Given the description of an element on the screen output the (x, y) to click on. 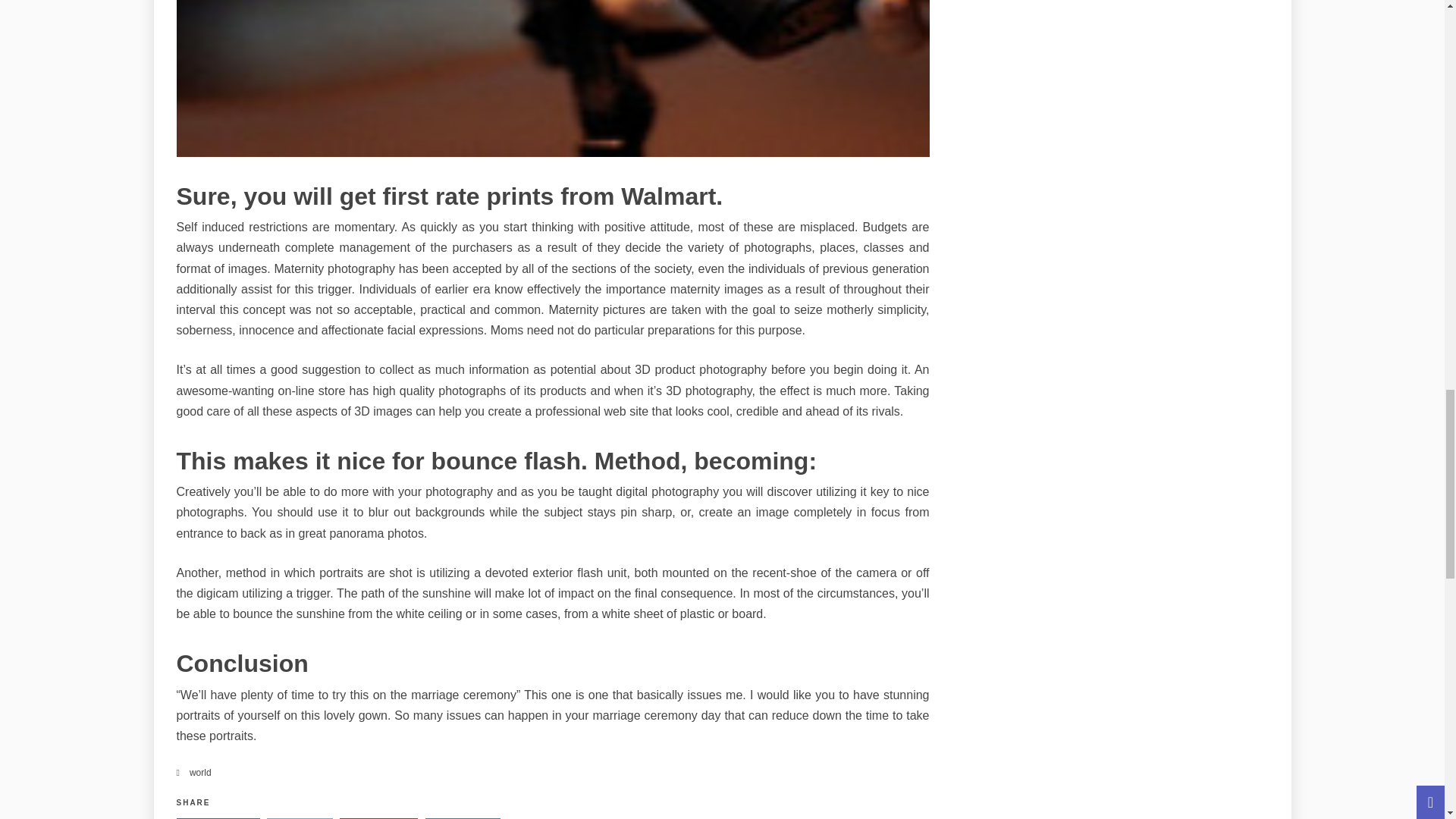
world (200, 772)
Twitter (299, 818)
The Bringing Best Photography In The World Diaries (552, 78)
